Given the description of an element on the screen output the (x, y) to click on. 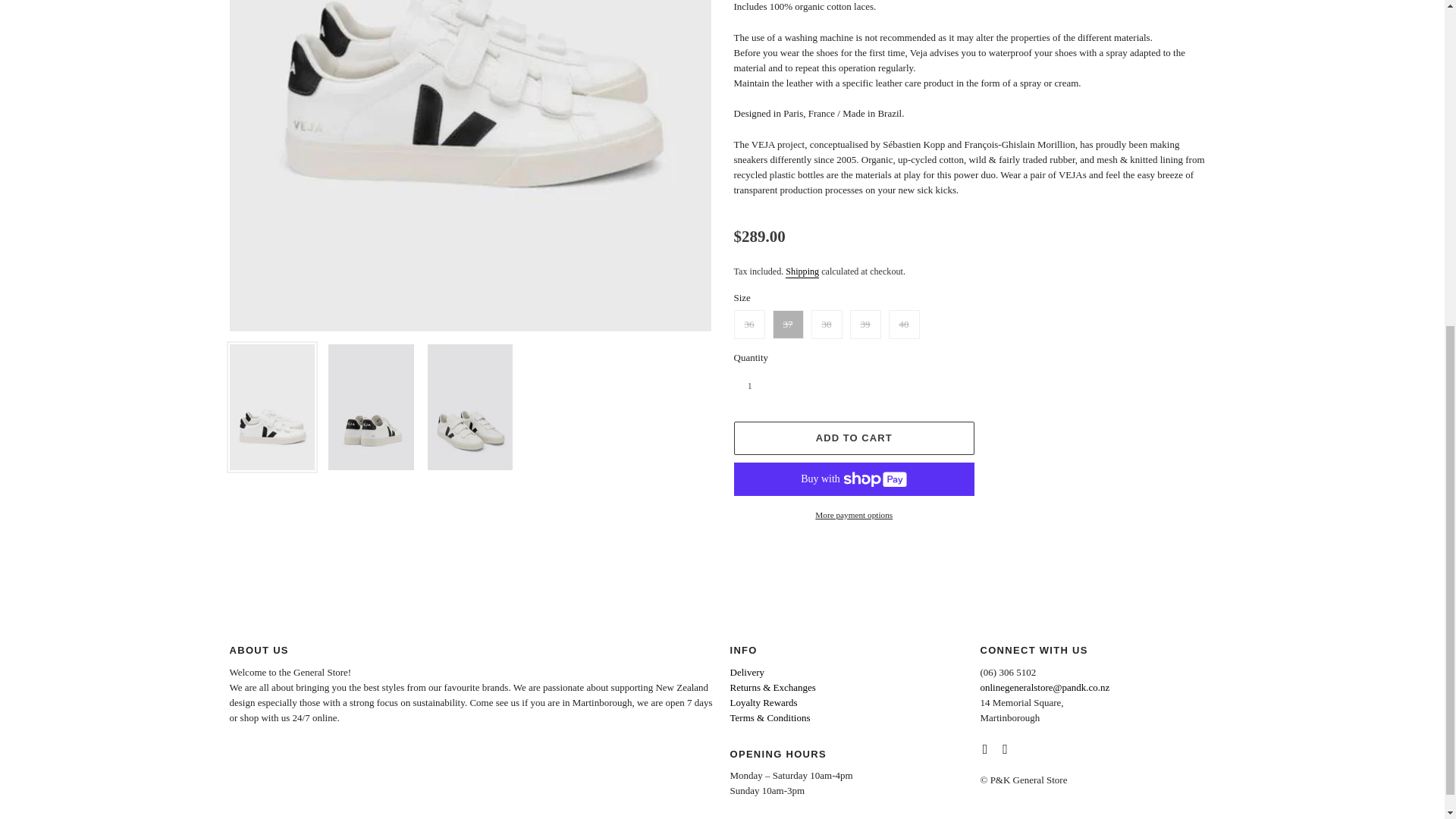
1 (763, 385)
